Given the description of an element on the screen output the (x, y) to click on. 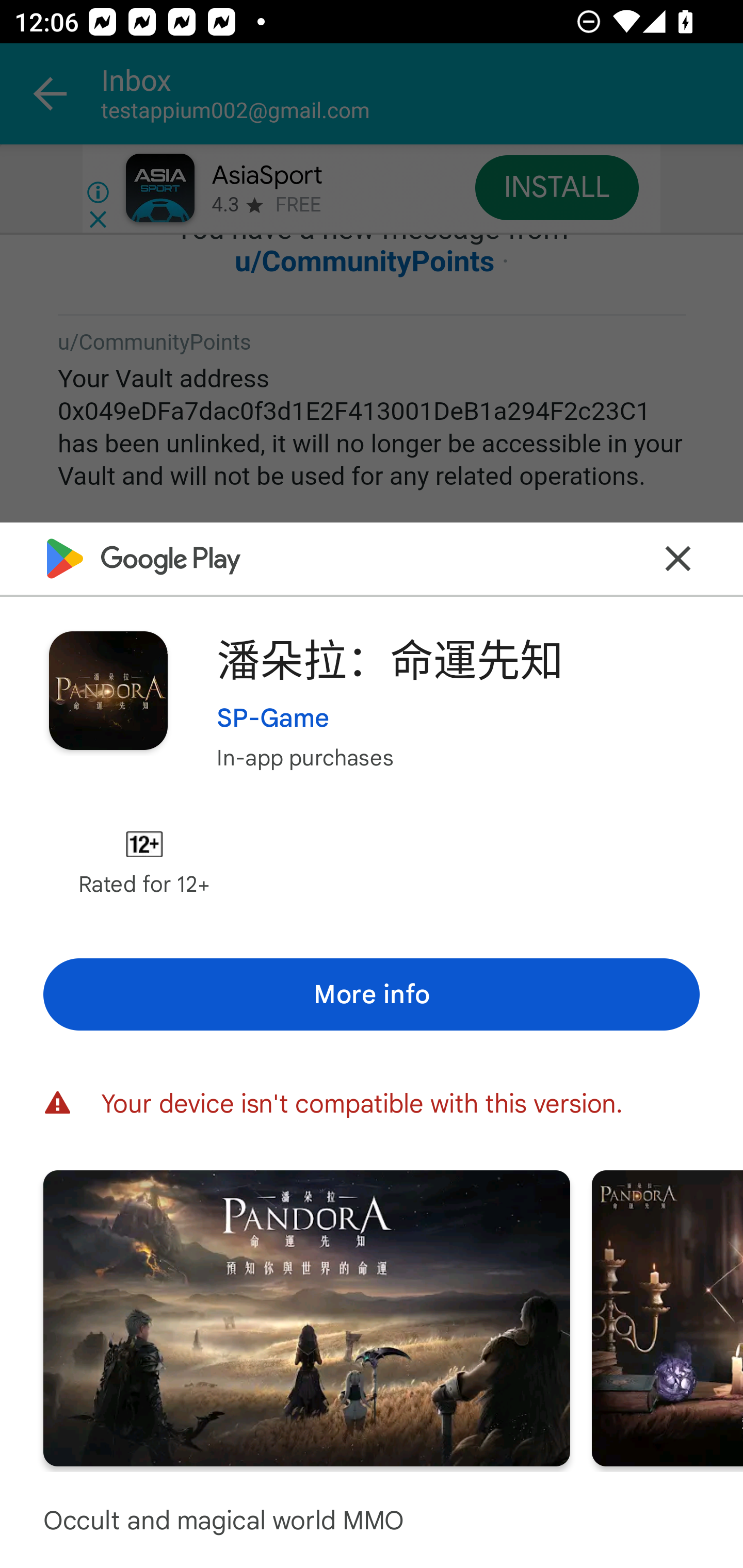
Close (677, 558)
Image of app or game icon for 潘朵拉：命運先知 (108, 690)
SP-Game (272, 716)
More info (371, 994)
Screenshot "1" of "6" (306, 1317)
